Given the description of an element on the screen output the (x, y) to click on. 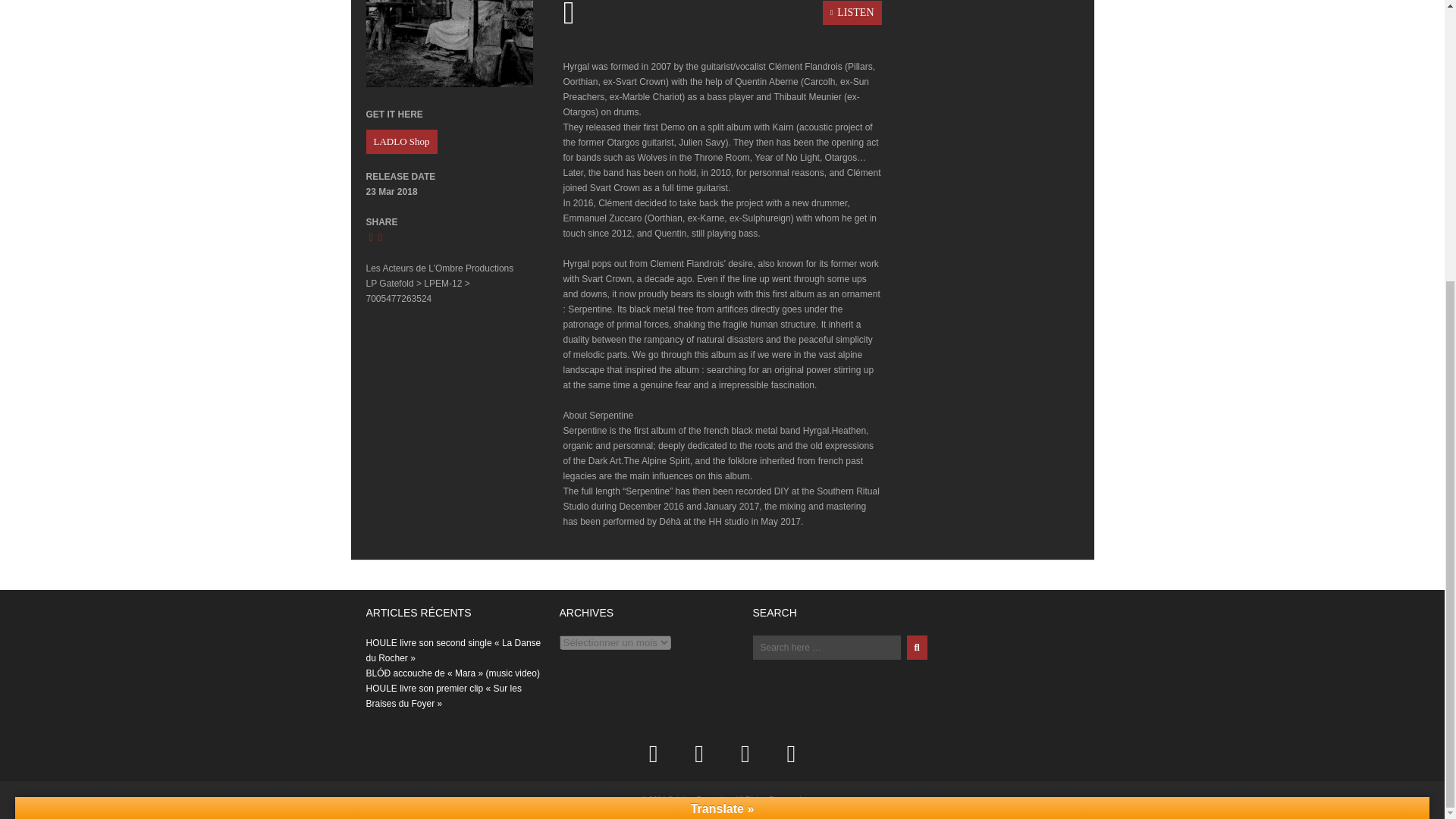
LADLO Shop (400, 141)
LISTEN (721, 14)
